Given the description of an element on the screen output the (x, y) to click on. 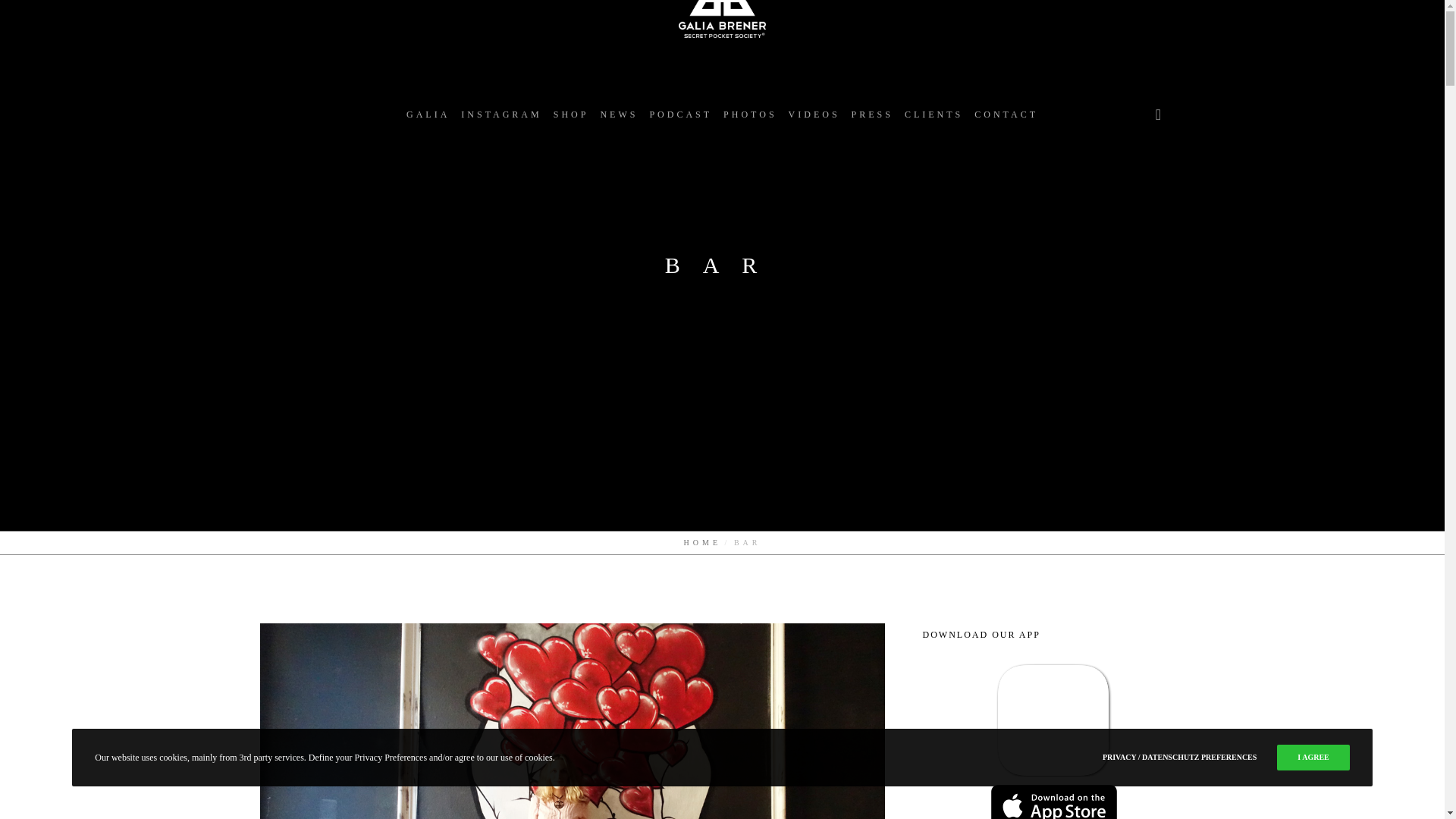
GALIA (427, 114)
CONTACT (1006, 114)
PRESS (872, 114)
HOME (702, 542)
VIDEOS (814, 114)
PODCAST (680, 114)
INSTAGRAM (501, 114)
CLIENTS (933, 114)
PHOTOS (749, 114)
NEWS (619, 114)
